Given the description of an element on the screen output the (x, y) to click on. 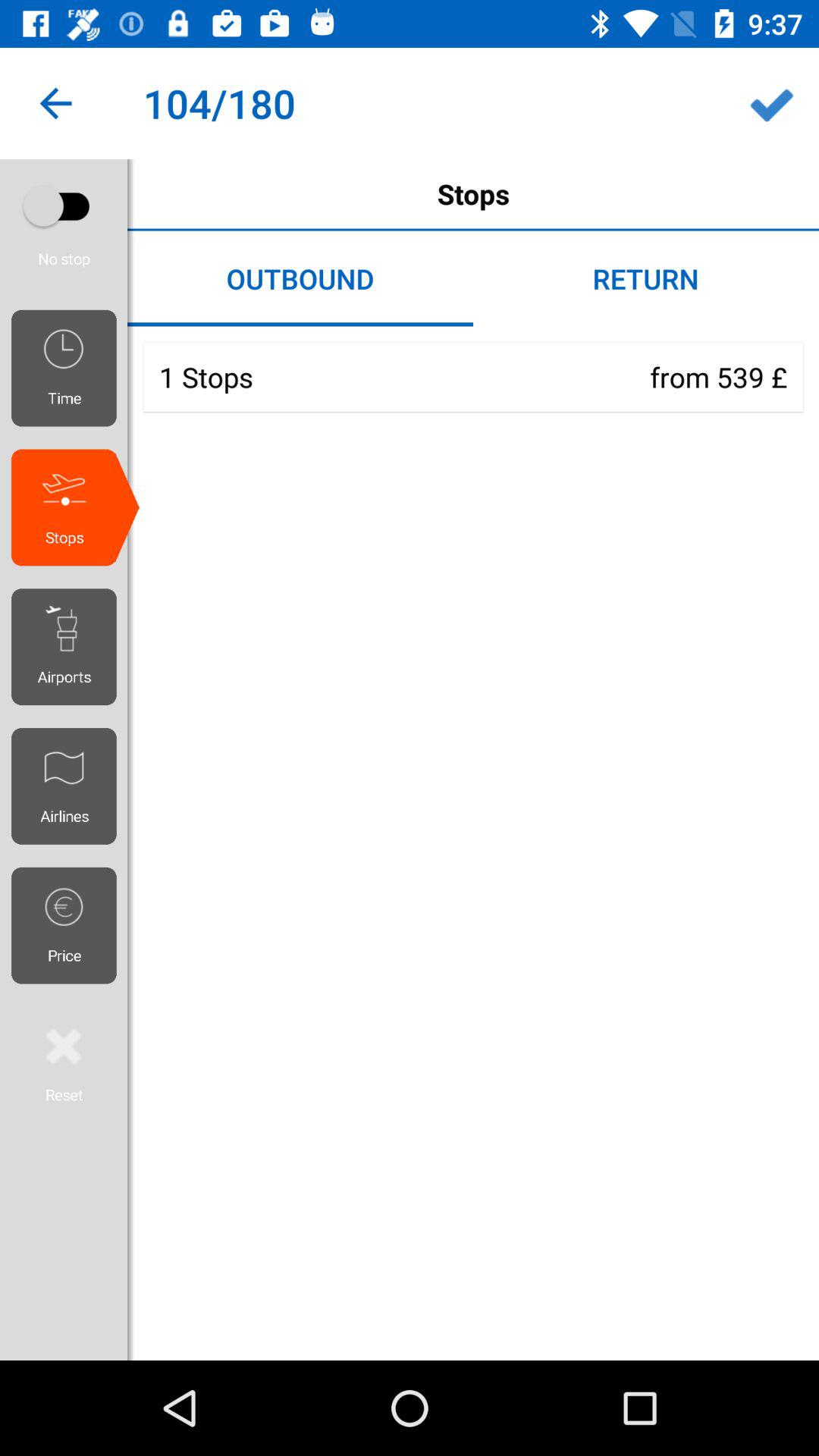
choose the icon next to 104/180 icon (771, 103)
